Given the description of an element on the screen output the (x, y) to click on. 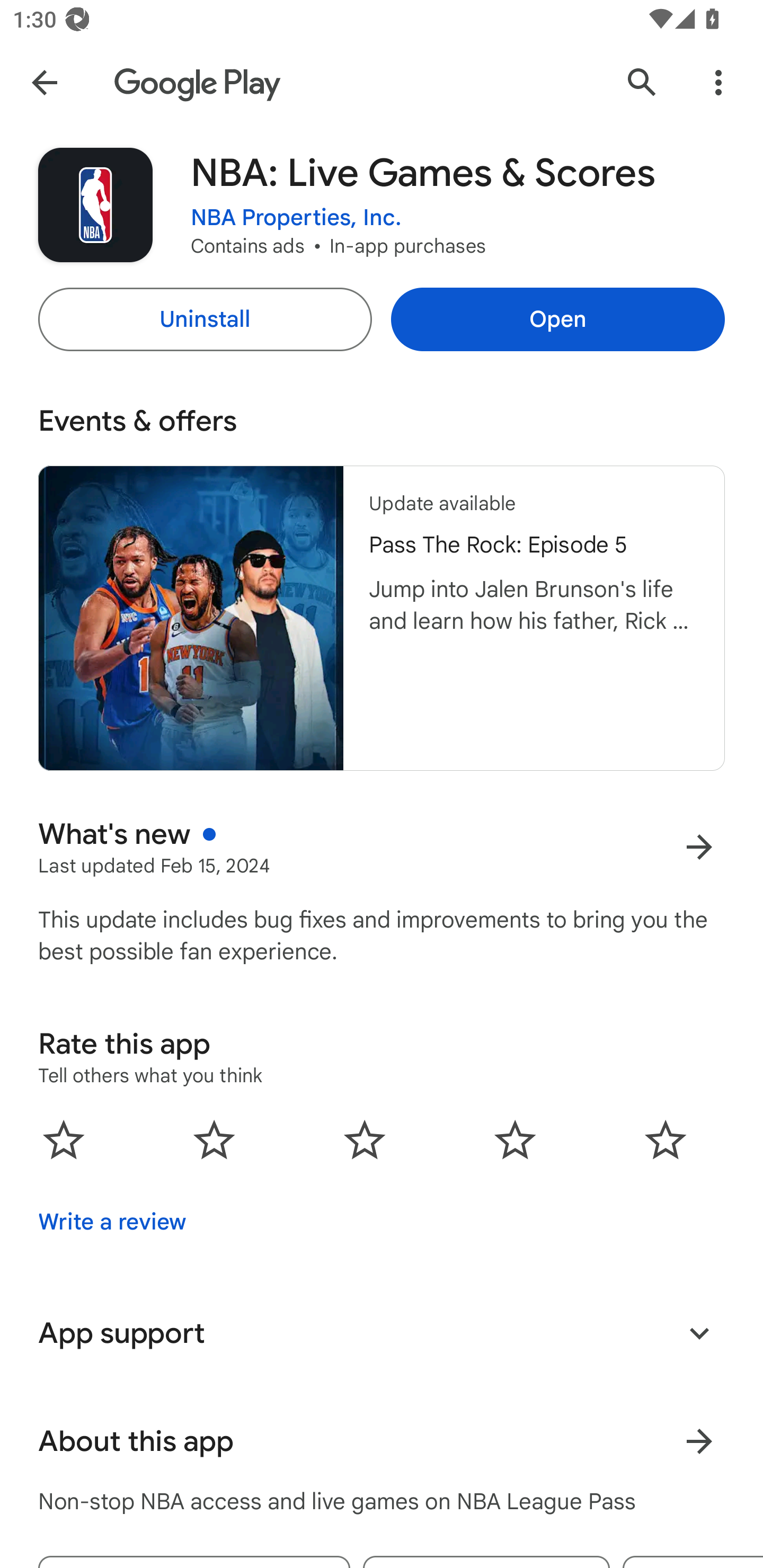
Navigate up (44, 81)
Search Google Play (642, 81)
More Options (718, 81)
NBA Properties, Inc. (295, 217)
Uninstall (205, 318)
Open (557, 318)
More results for What's new (699, 847)
0.0 (364, 1138)
Write a review (112, 1221)
App support Expand (381, 1333)
Expand (699, 1333)
About this app Learn more About this app (381, 1441)
Learn more About this app (699, 1441)
